Given the description of an element on the screen output the (x, y) to click on. 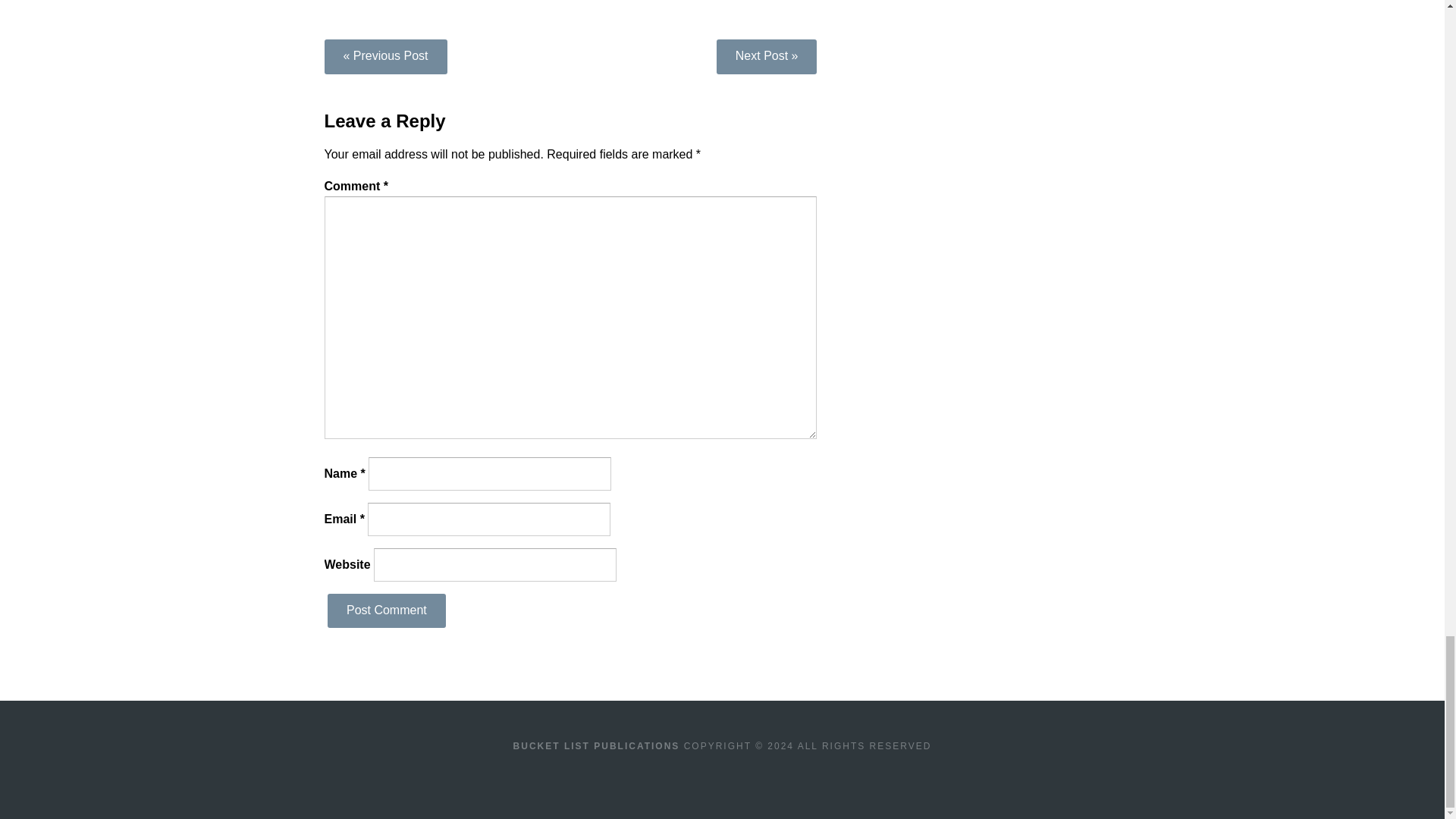
Post Comment (386, 610)
